Given the description of an element on the screen output the (x, y) to click on. 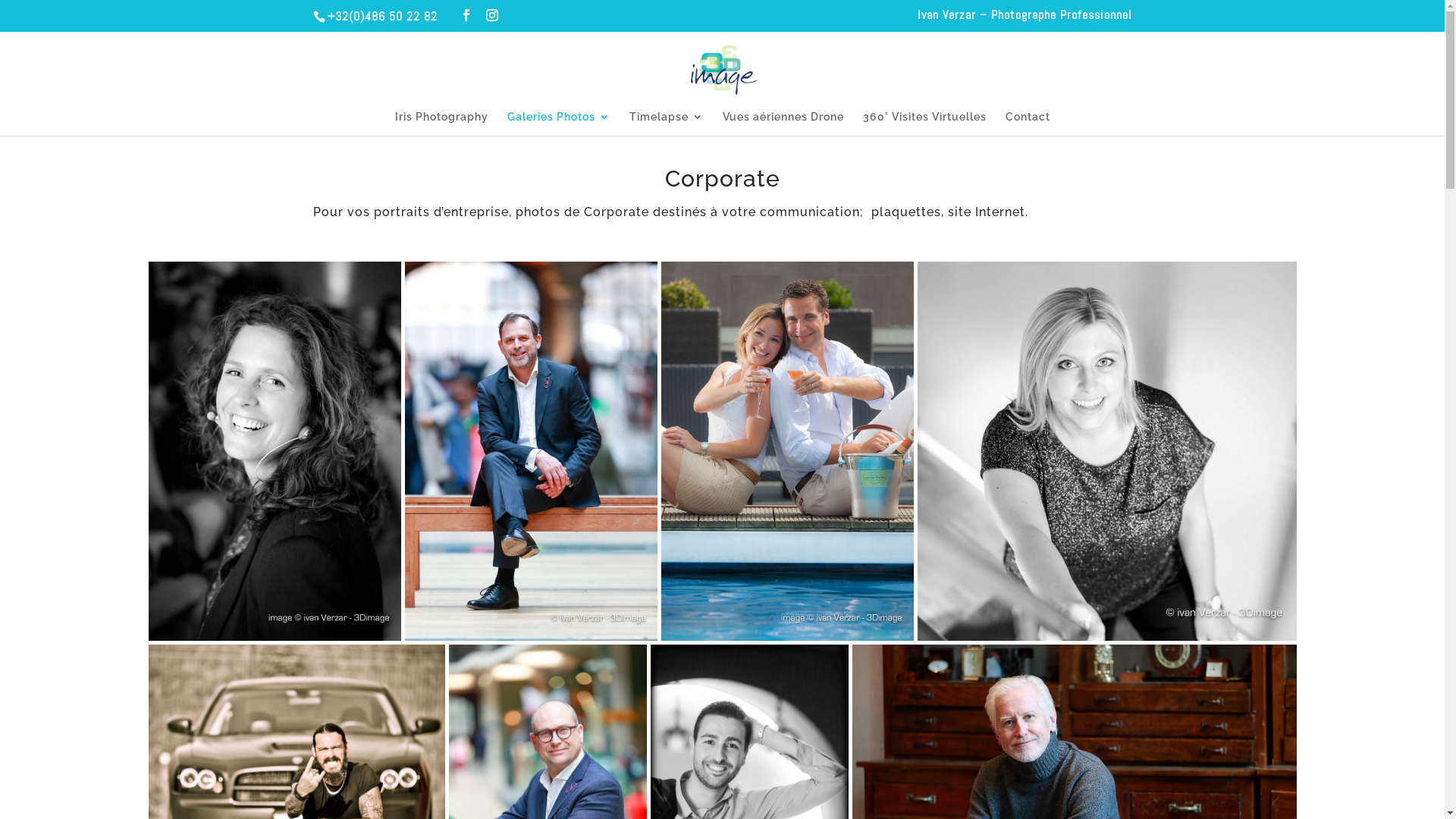
Timelapse Element type: text (666, 123)
Iris Photography Element type: text (440, 123)
Corporate by Ivan Verzar Element type: hover (530, 450)
Corporate by Ivan Verzar Element type: hover (274, 450)
Galeries Photos Element type: text (557, 123)
Contact Element type: text (1027, 123)
Corporate by Ivan Verzar Element type: hover (787, 450)
Corporate by Ivan Verzar Element type: hover (1106, 450)
